Given the description of an element on the screen output the (x, y) to click on. 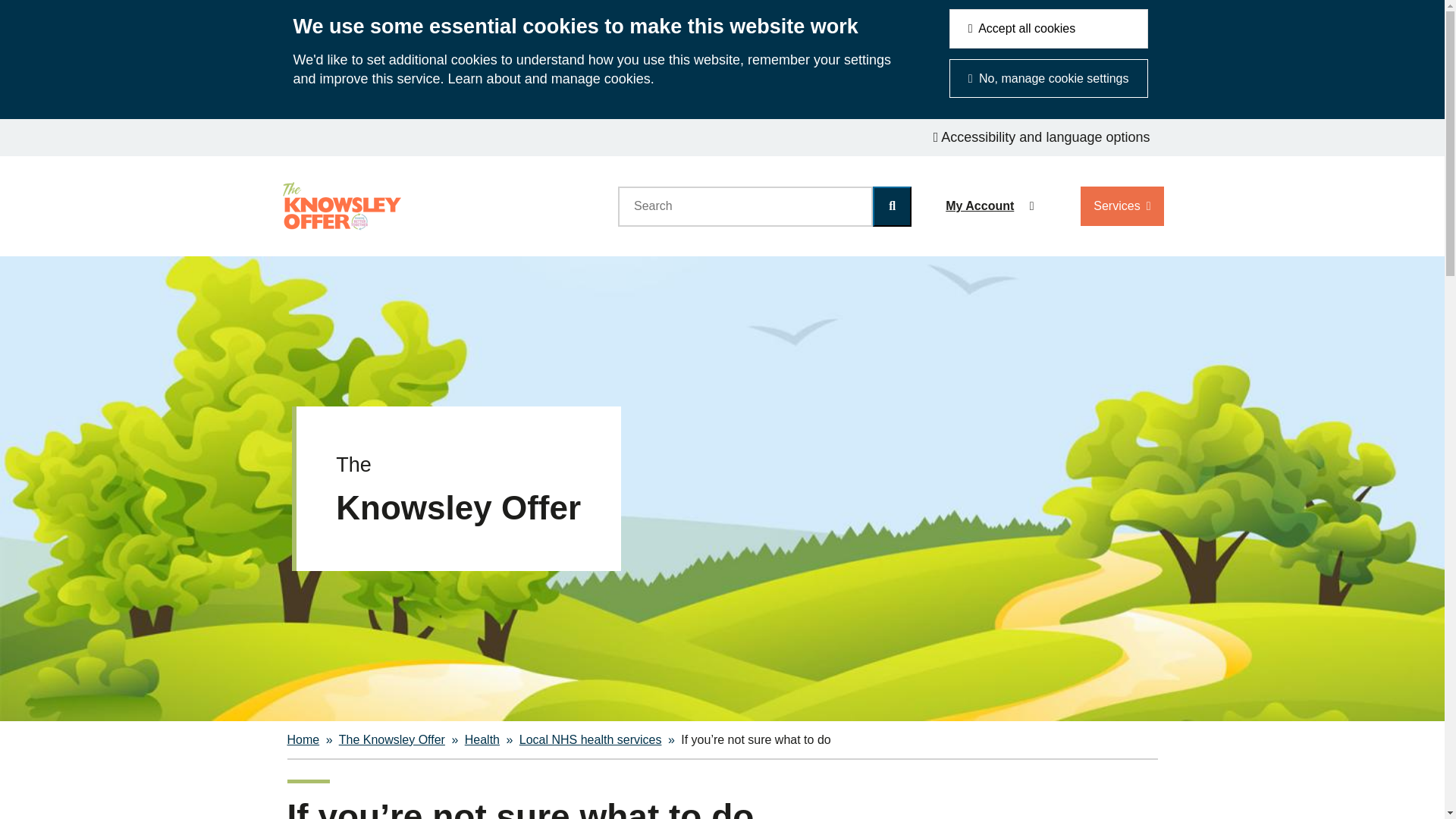
The Knowsley Offer (392, 739)
Health (481, 739)
No, manage cookie settings (1048, 78)
Skip to main content (12, 130)
Accept all cookies (1048, 28)
Accessibility and language options (1041, 137)
My Account (986, 205)
Home (302, 739)
Local NHS health services (590, 739)
Services (1121, 206)
